Given the description of an element on the screen output the (x, y) to click on. 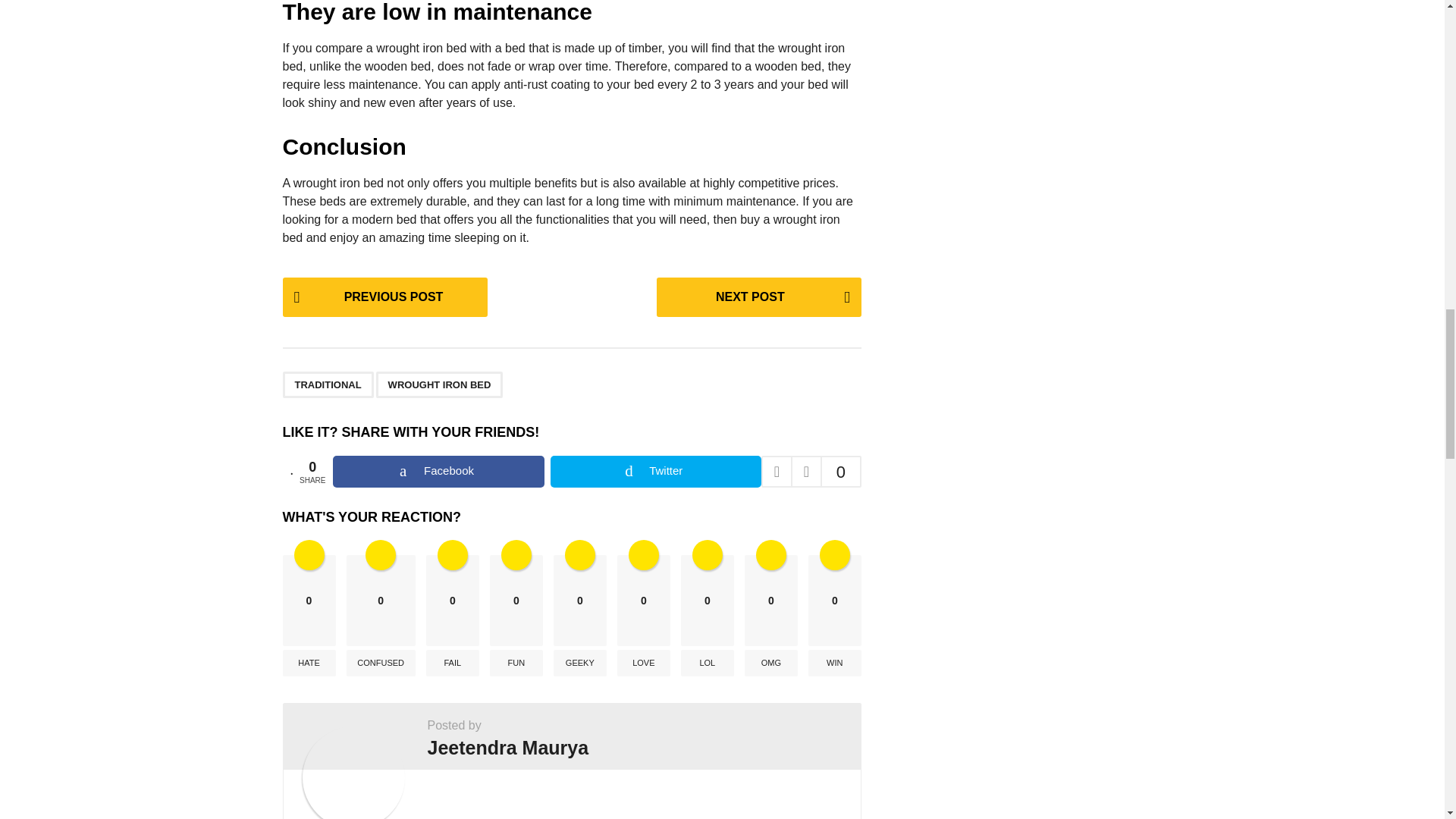
Share on Twitter (655, 471)
WROUGHT IRON BED (439, 384)
NEXT POST (758, 297)
PREVIOUS POST (384, 297)
TRADITIONAL (327, 384)
Share on Facebook (438, 471)
